Given the description of an element on the screen output the (x, y) to click on. 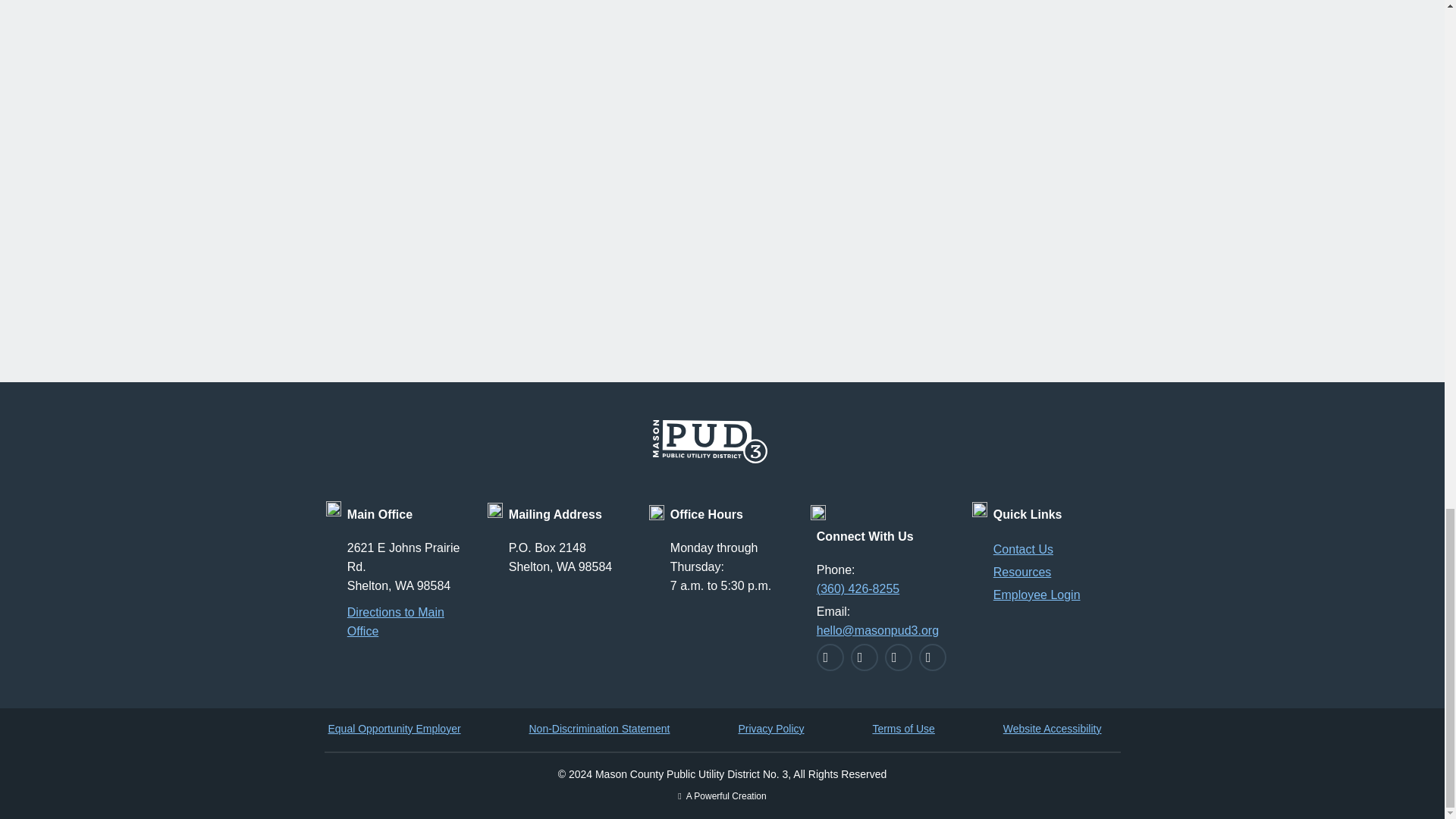
Follow on X (898, 656)
Follow on Instagram (863, 656)
Follow on Facebook (830, 656)
Follow on YouTube (932, 656)
